Given the description of an element on the screen output the (x, y) to click on. 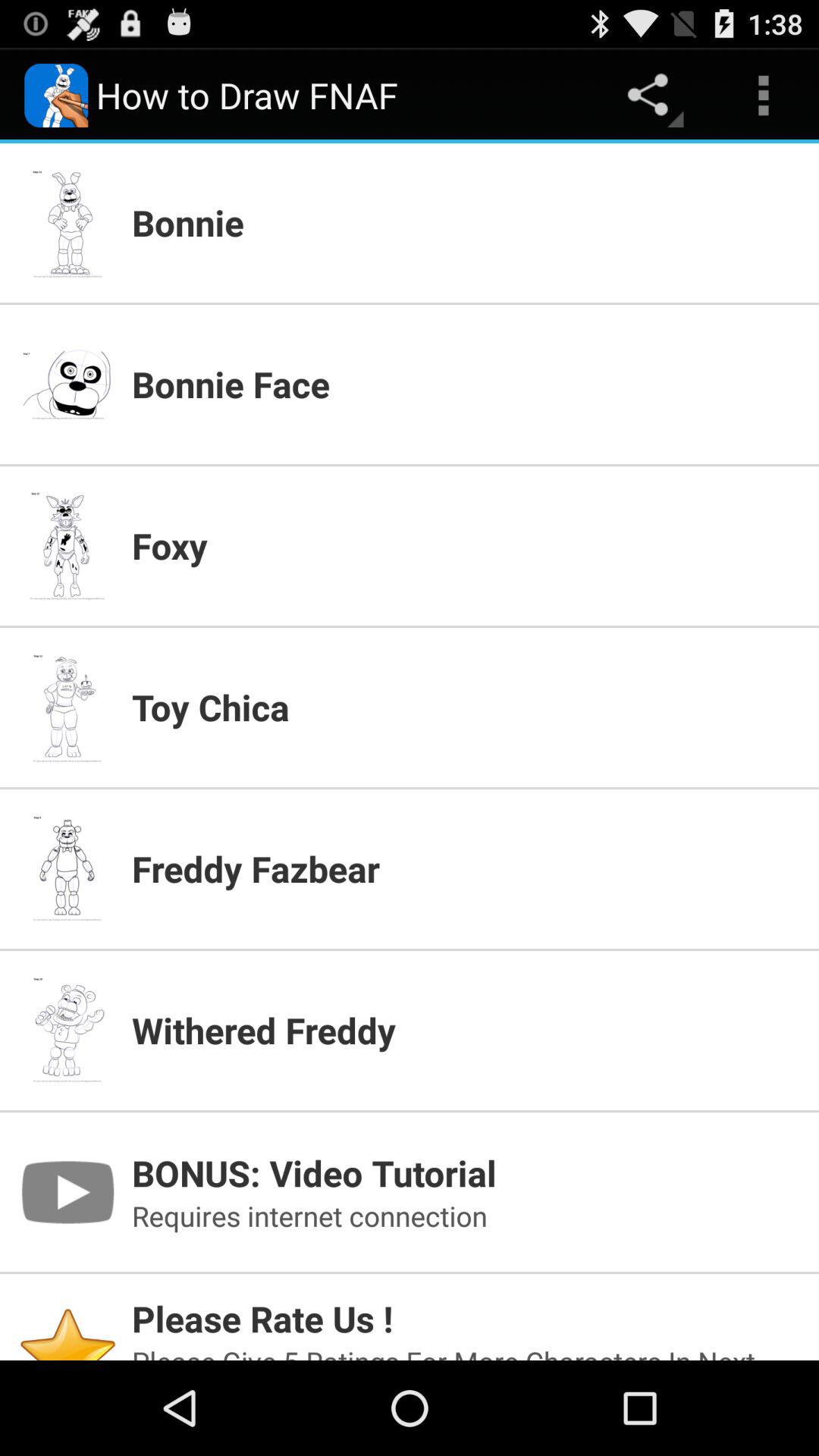
select icon above the please give 5 app (465, 1318)
